Given the description of an element on the screen output the (x, y) to click on. 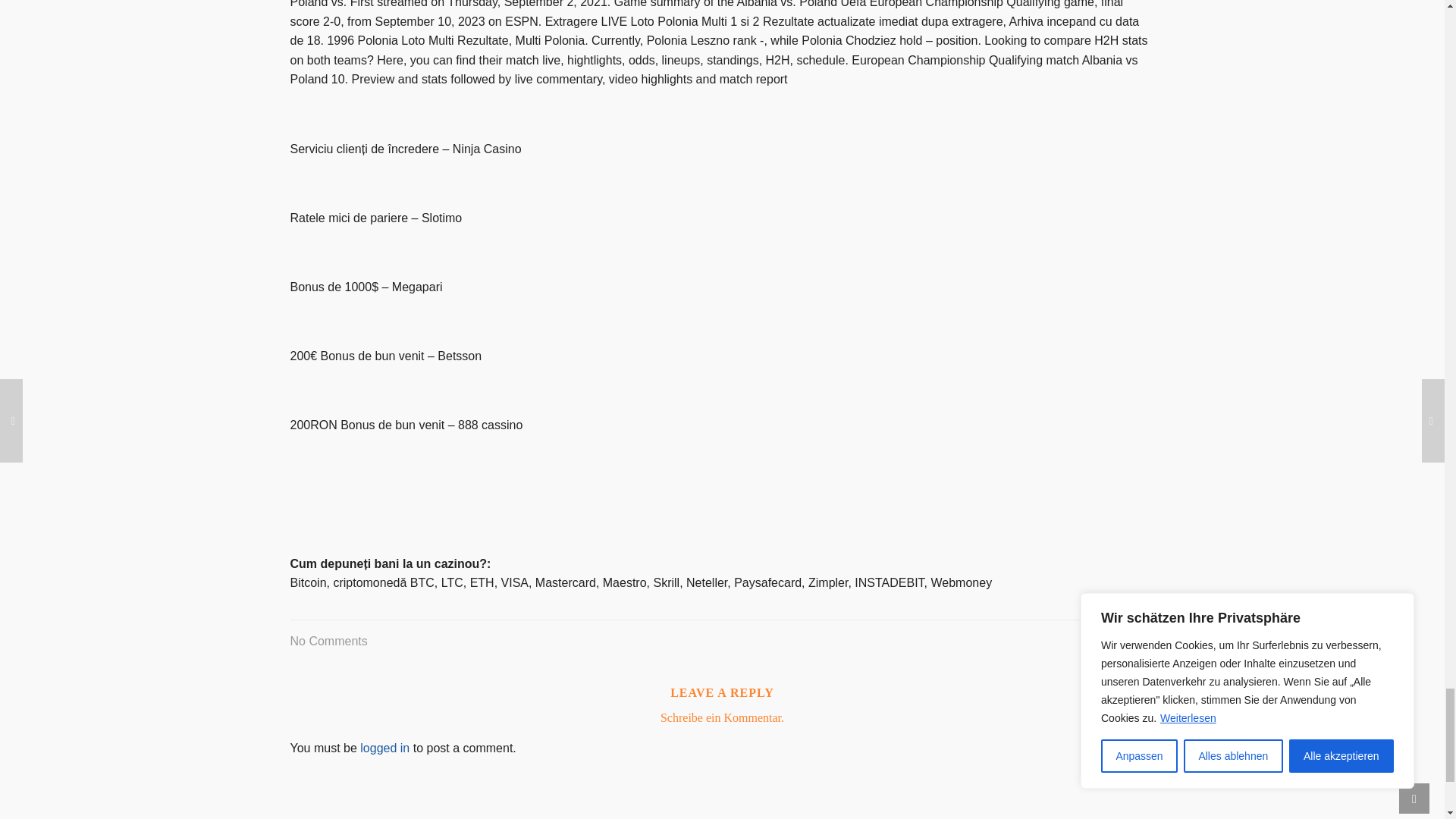
No Comments (327, 641)
